Given the description of an element on the screen output the (x, y) to click on. 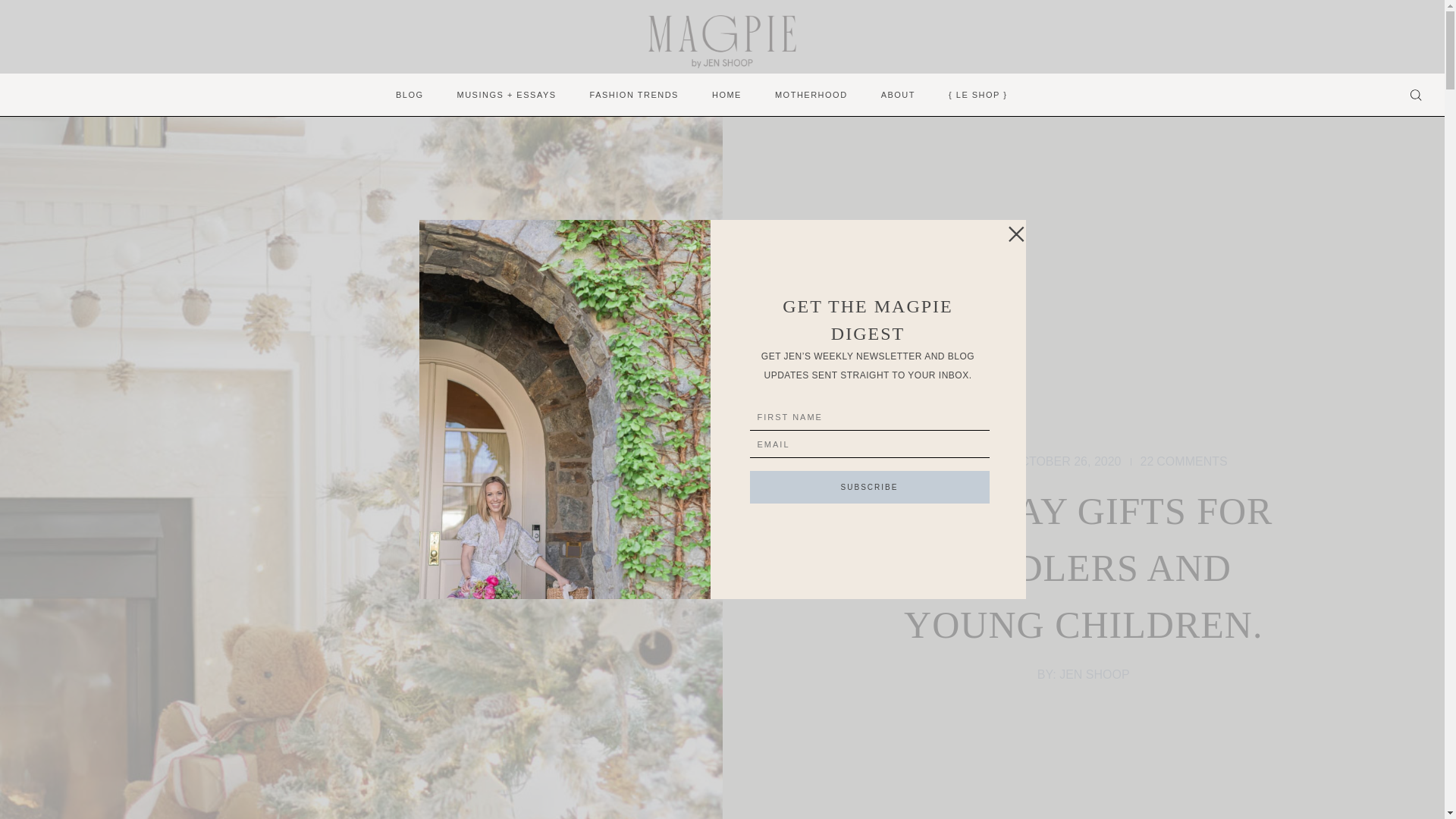
HOLIDAY (965, 461)
Subscribe (1183, 461)
FASHION TRENDS (868, 486)
MOTHERHOOD (633, 95)
